Given the description of an element on the screen output the (x, y) to click on. 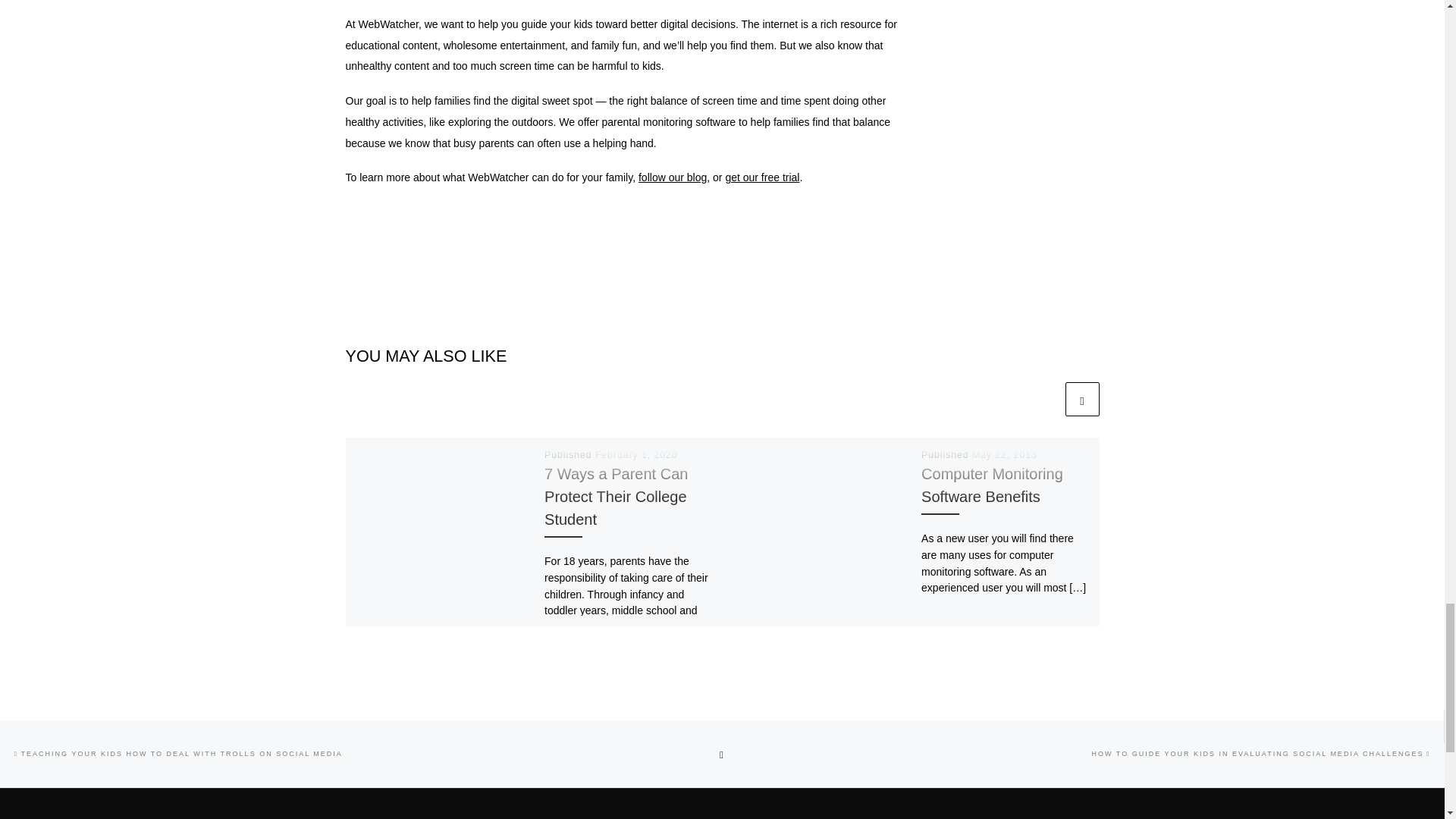
follow our blog (672, 177)
get our free trial (762, 177)
Next related articles (1081, 399)
Computer Monitoring Software Benefits (991, 485)
May 22, 2013 (1004, 454)
February 1, 2020 (636, 454)
7 Ways a Parent Can Protect Their College Student (615, 496)
Previous related articles (1044, 399)
